Given the description of an element on the screen output the (x, y) to click on. 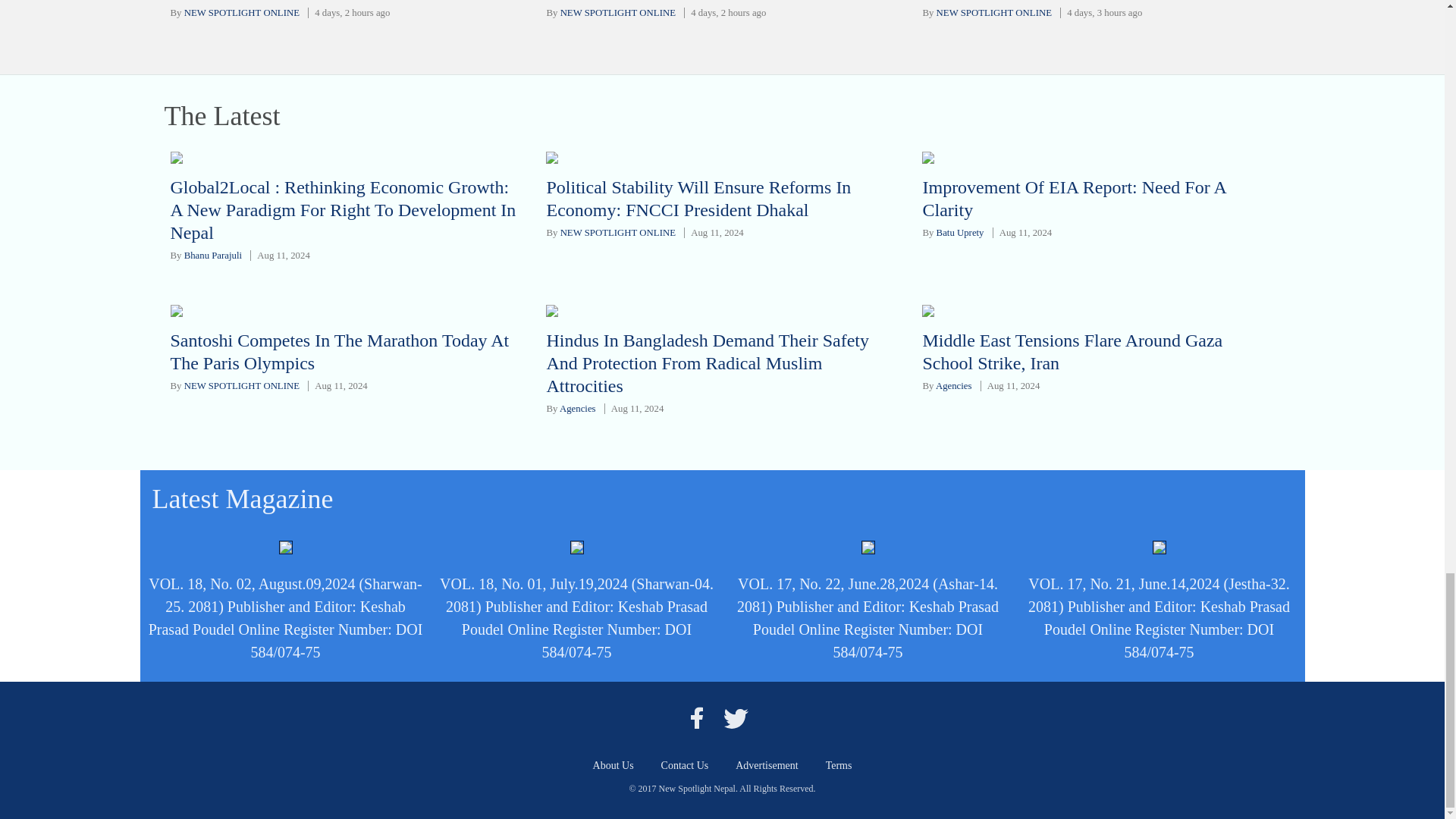
twitter icon (735, 717)
NEW SPOTLIGHT ONLINE (241, 12)
Spotlight Nepal Facebook (695, 717)
facebook icon (695, 717)
Spotlight Nepal Twitter (735, 717)
NEW SPOTLIGHT ONLINE (993, 12)
NEW SPOTLIGHT ONLINE (617, 12)
